Given the description of an element on the screen output the (x, y) to click on. 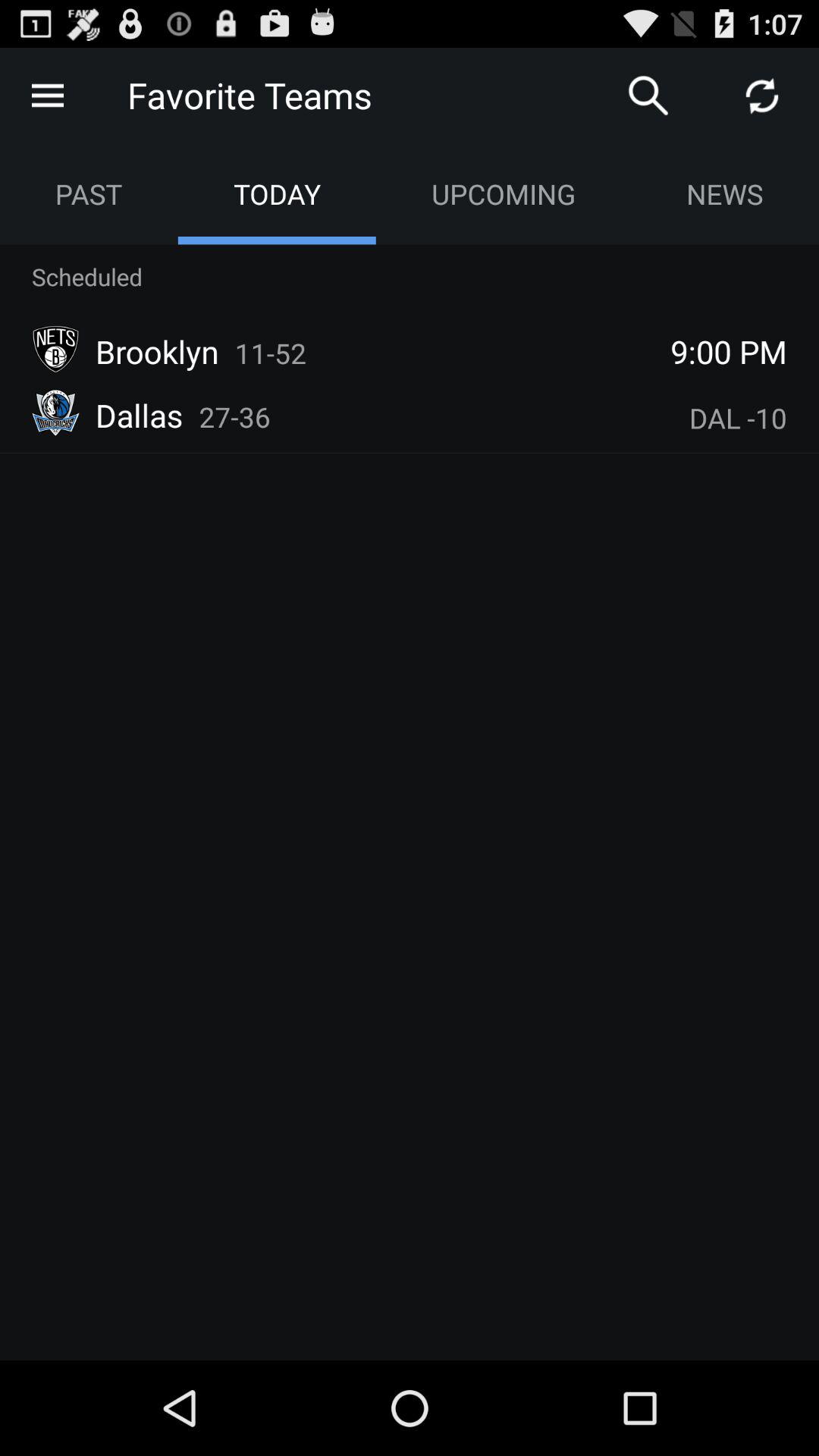
menu (47, 95)
